Given the description of an element on the screen output the (x, y) to click on. 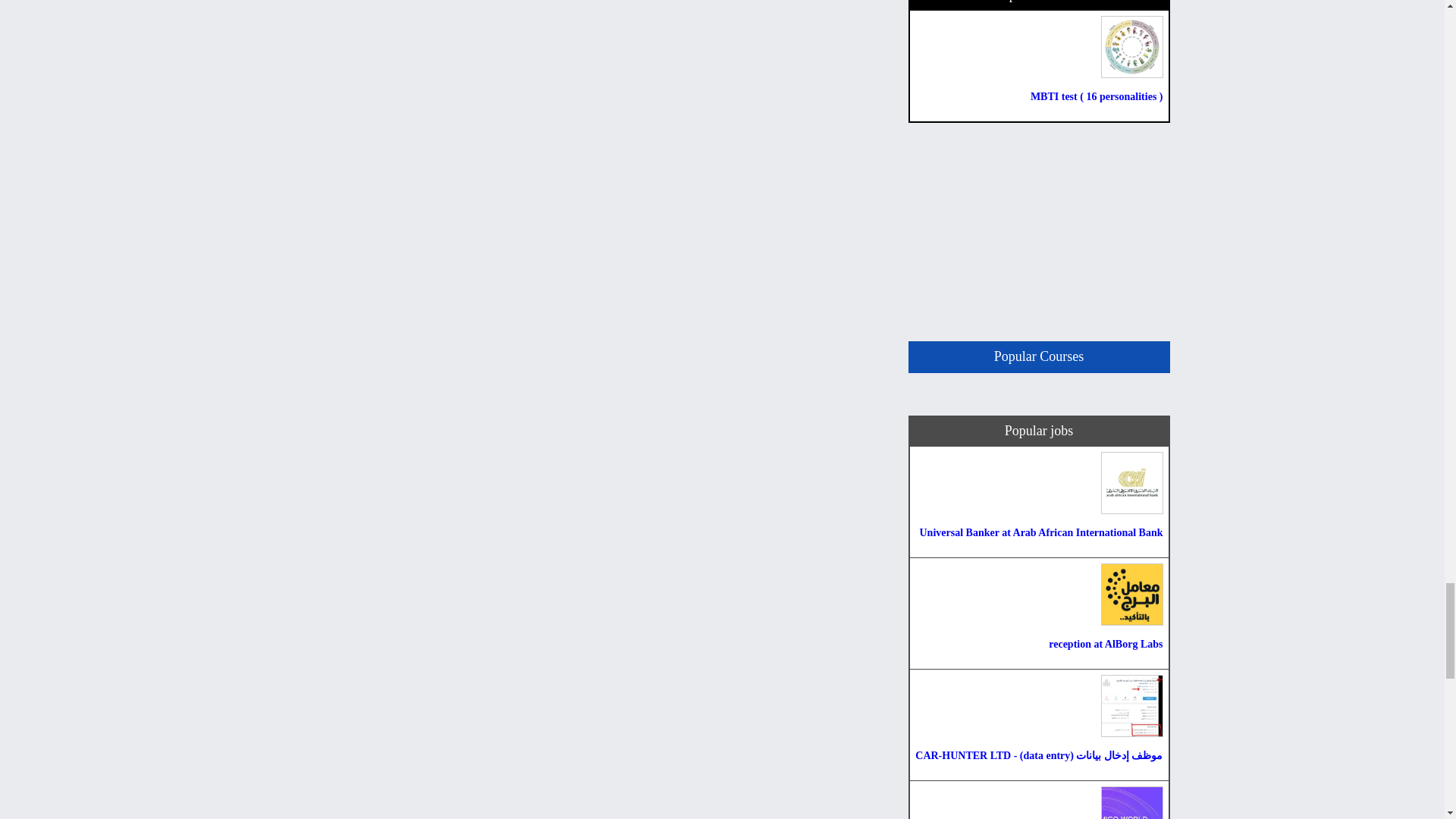
Universal Banker at Arab African International Bank (1039, 501)
reception at AlBorg Labs (1039, 613)
